Given the description of an element on the screen output the (x, y) to click on. 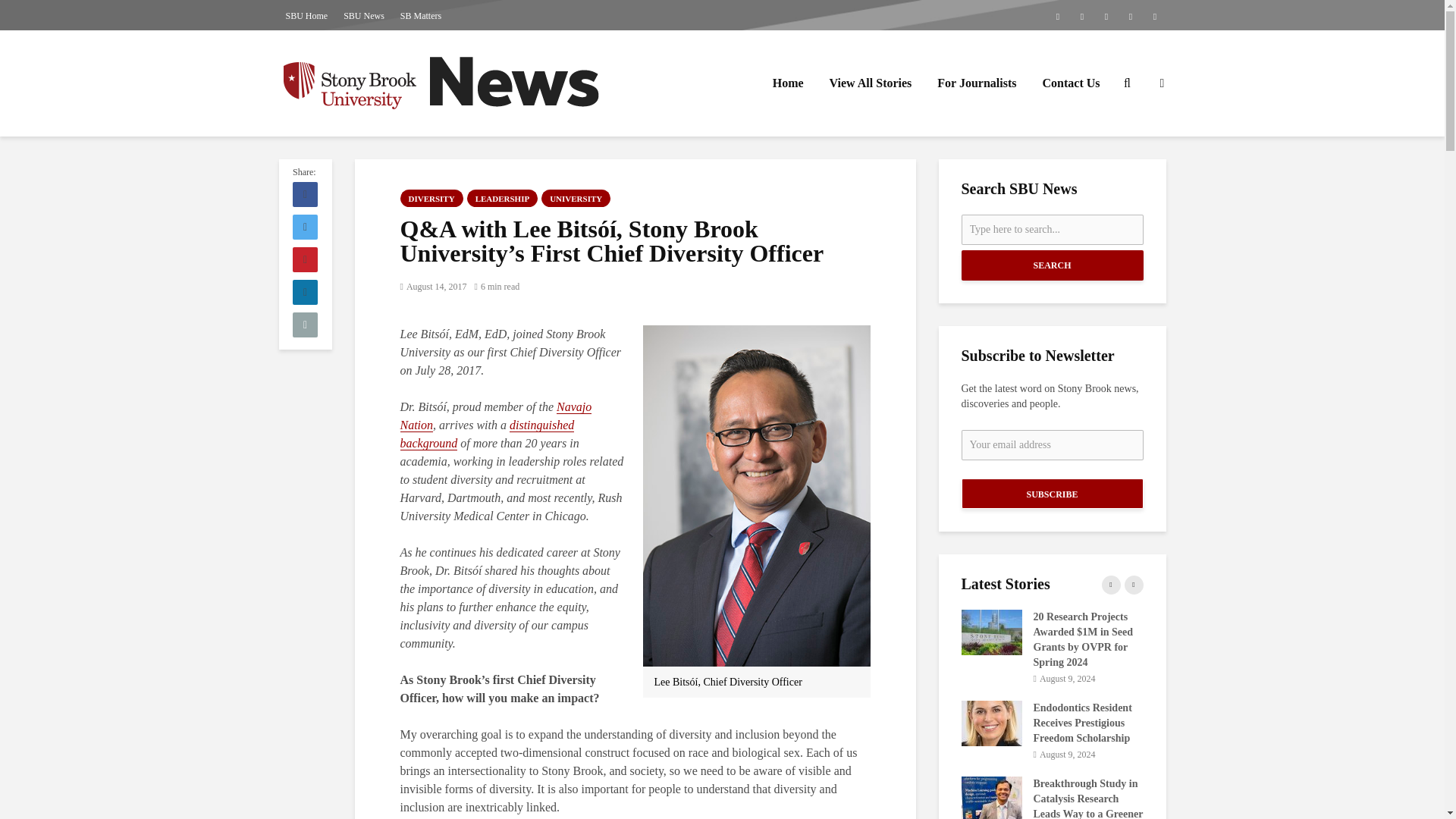
SBU Student-Athletes Inspire LILTA Students (627, 691)
SB Matters (420, 15)
View All Stories (870, 82)
SBU News (363, 15)
Home (788, 82)
For Journalists (976, 82)
Contact Us (1071, 82)
